Given the description of an element on the screen output the (x, y) to click on. 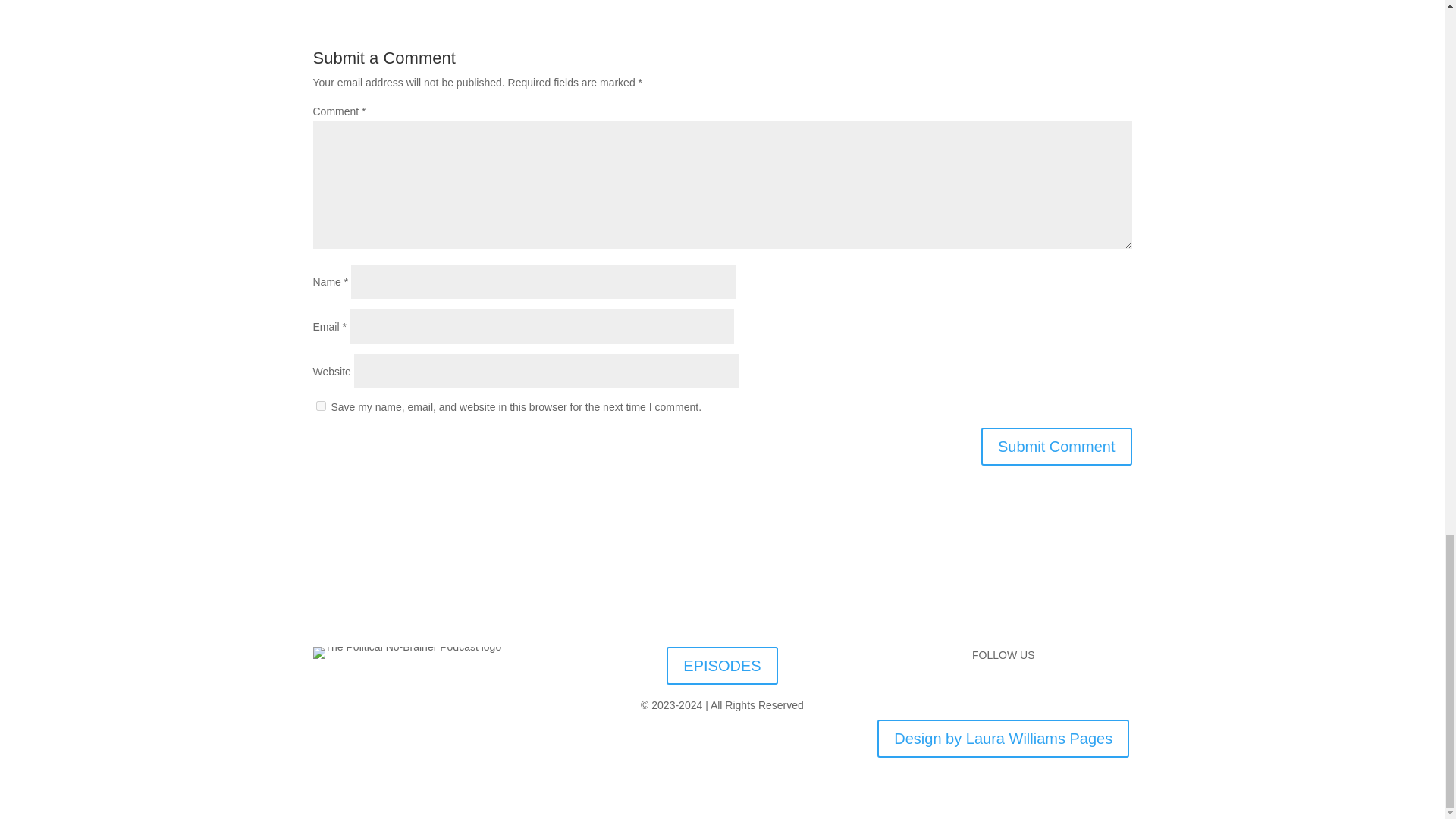
Submit Comment (1056, 446)
Follow on X (987, 689)
Submit Comment (1056, 446)
yes (319, 406)
EPISODES (721, 665)
Poltical No Brainer Logo WHITE TEXT ONLY (406, 653)
Design by Laura Williams Pages (1003, 738)
Follow on Youtube (1048, 689)
Follow on Facebook (956, 689)
Follow on Instagram (1018, 689)
